Given the description of an element on the screen output the (x, y) to click on. 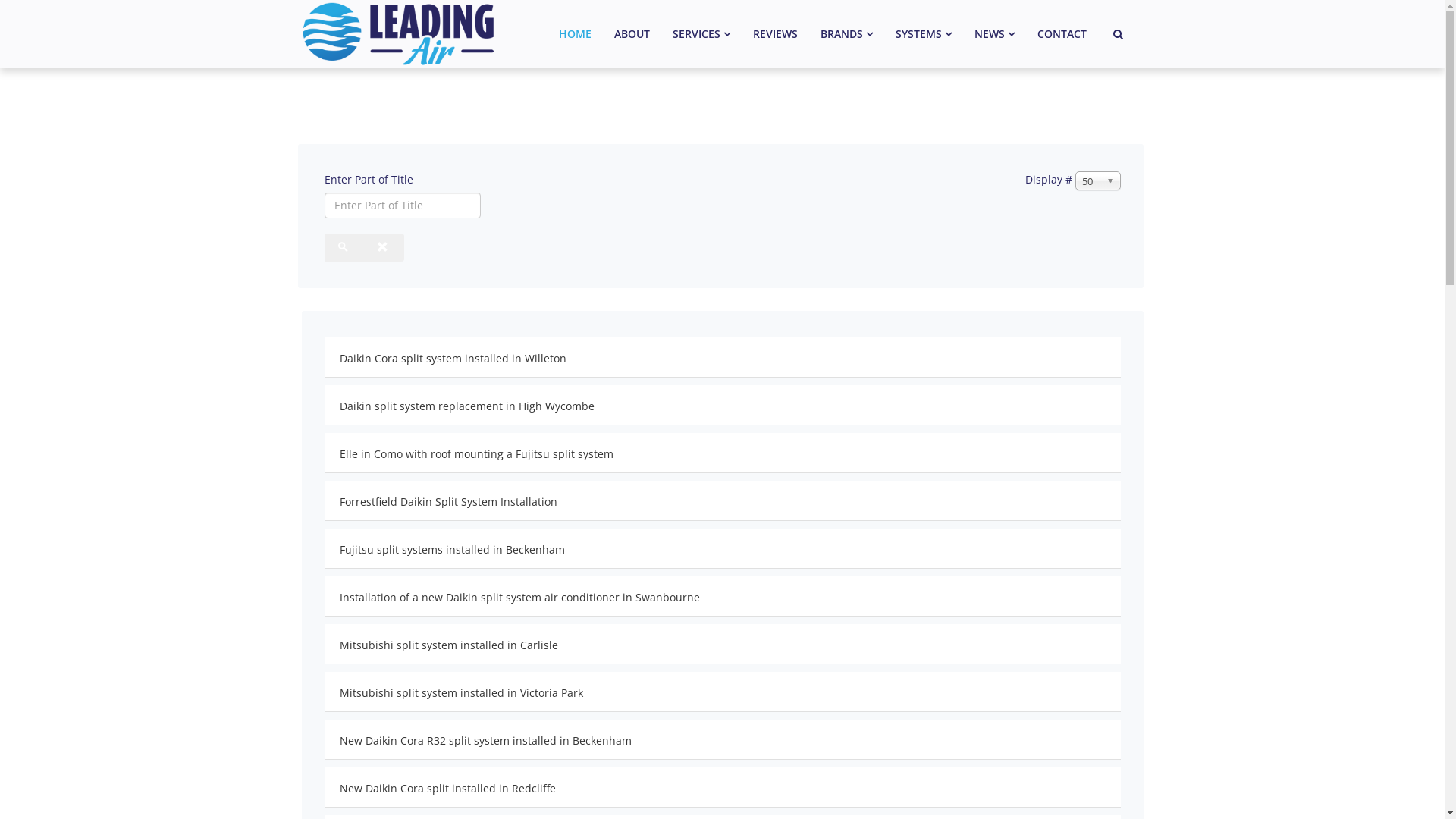
New Daikin Cora R32 split system installed in Beckenham Element type: text (485, 740)
REVIEWS Element type: text (775, 34)
Daikin Cora split system installed in Willeton Element type: text (452, 358)
Fujitsu split systems installed in Beckenham Element type: text (451, 549)
BRANDS Element type: text (845, 34)
ABOUT Element type: text (631, 34)
SYSTEMS Element type: text (923, 34)
Daikin split system replacement in High Wycombe Element type: text (466, 405)
Mitsubishi split system installed in Victoria Park Element type: text (461, 692)
New Daikin Cora split installed in Redcliffe Element type: text (447, 788)
50 Element type: text (1097, 180)
Elle in Como with roof mounting a Fujitsu split system Element type: text (476, 453)
HOME Element type: text (574, 34)
Mitsubishi split system installed in Carlisle Element type: text (448, 644)
Clear Element type: hover (384, 247)
NEWS Element type: text (994, 34)
CONTACT Element type: text (1061, 34)
SERVICES Element type: text (701, 34)
Forrestfield Daikin Split System Installation Element type: text (448, 501)
Search Element type: hover (344, 247)
Enter all or part of the title to search for. Element type: hover (402, 205)
